Given the description of an element on the screen output the (x, y) to click on. 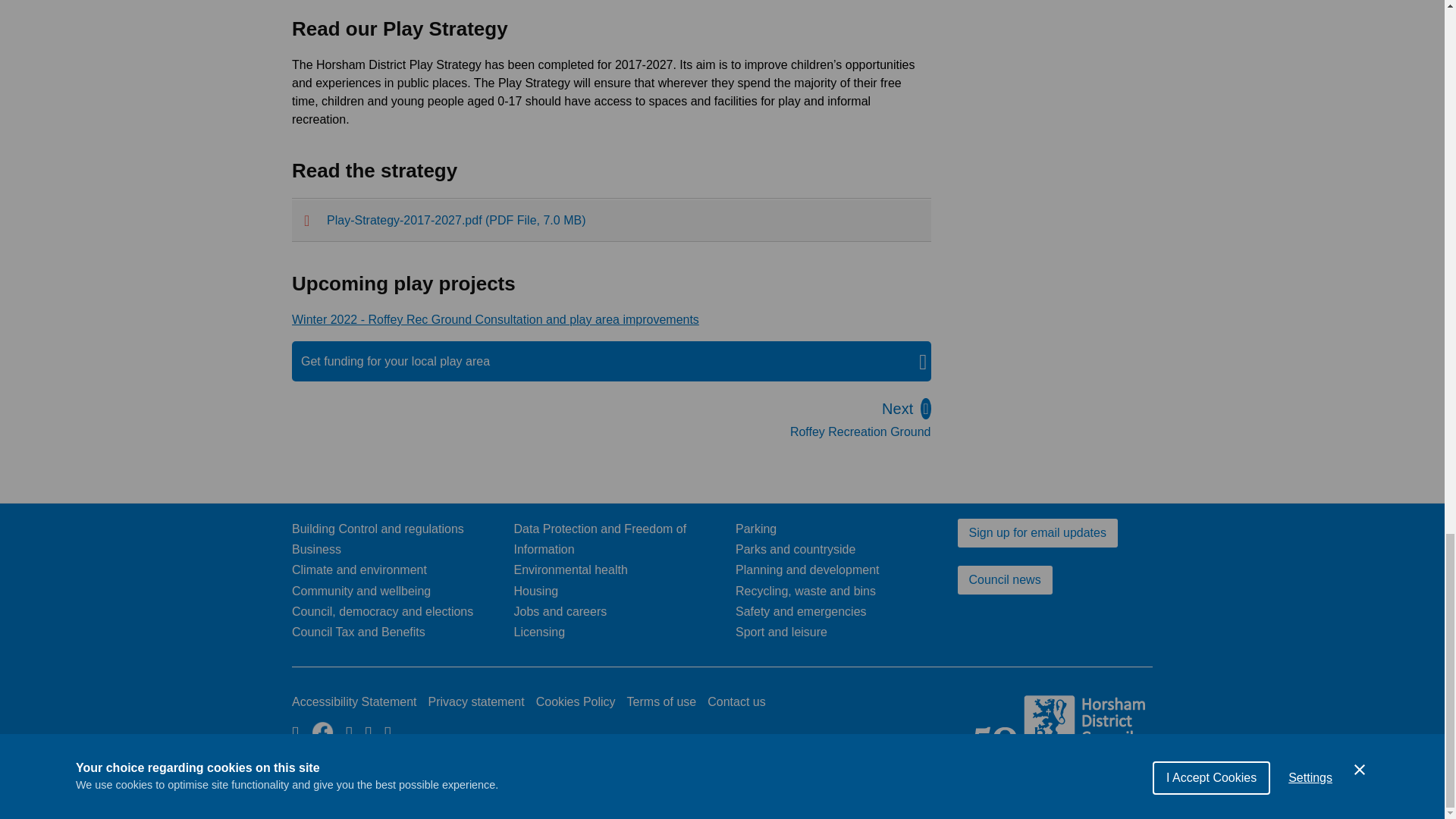
Business (316, 549)
Get funding for your local play area (860, 421)
Roffey Rec Ground (404, 361)
Council Tax and Benefits (495, 318)
Next (358, 631)
Play-Strategy-2017-2027.pdf (860, 421)
Council, democracy and elections (611, 220)
Building Control and regulations (382, 611)
Climate and environment (378, 528)
Community and wellbeing (359, 569)
